Given the description of an element on the screen output the (x, y) to click on. 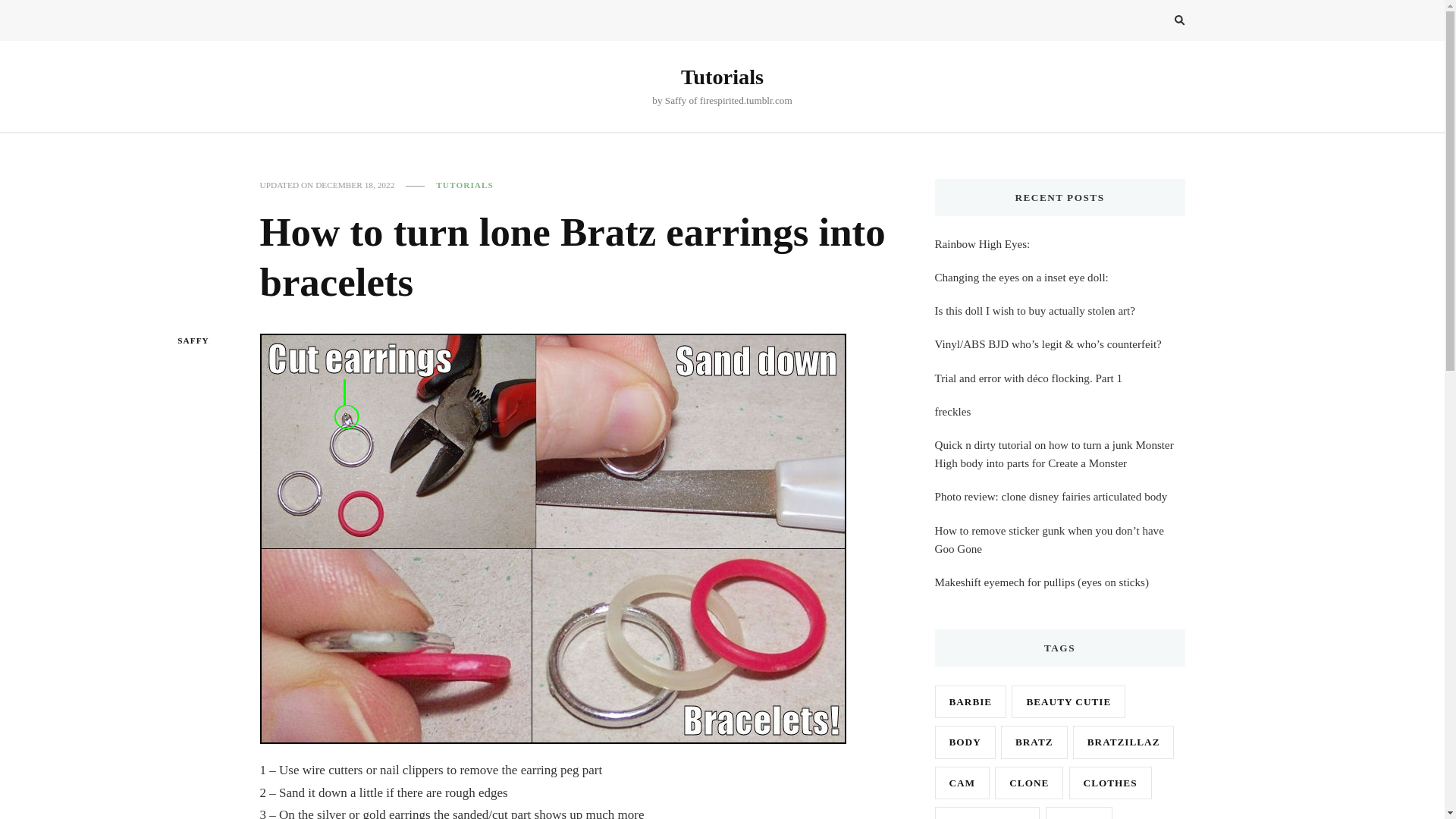
BEAUTY CUTIE (1068, 701)
CRAFT (1079, 812)
CLOTHES (1109, 782)
Changing the eyes on a inset eye doll: (1021, 277)
Photo review: clone disney fairies articulated body (1050, 496)
CLONE (1028, 782)
BRATZILLAZ (1123, 741)
BRATZ (1034, 741)
Rainbow High Eyes: (981, 244)
Search (1151, 22)
SAFFY (193, 340)
Tutorials (721, 76)
COMPARISON (986, 812)
DECEMBER 18, 2022 (354, 185)
